Given the description of an element on the screen output the (x, y) to click on. 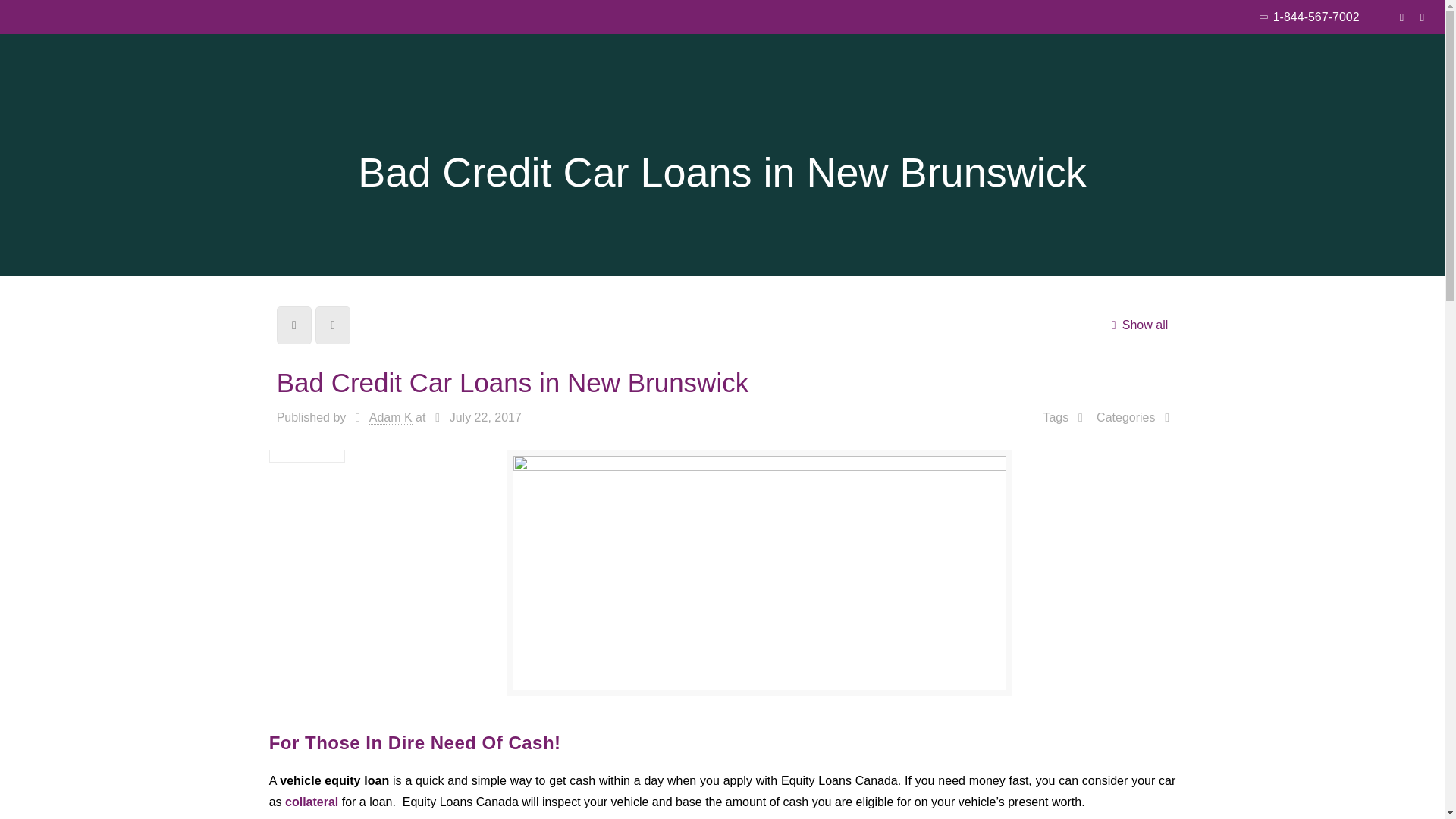
Facebook (1401, 16)
Show all (1136, 324)
Adam K (390, 418)
collateral (311, 801)
Twitter (1421, 16)
1-844-567-7002 (1315, 16)
